Given the description of an element on the screen output the (x, y) to click on. 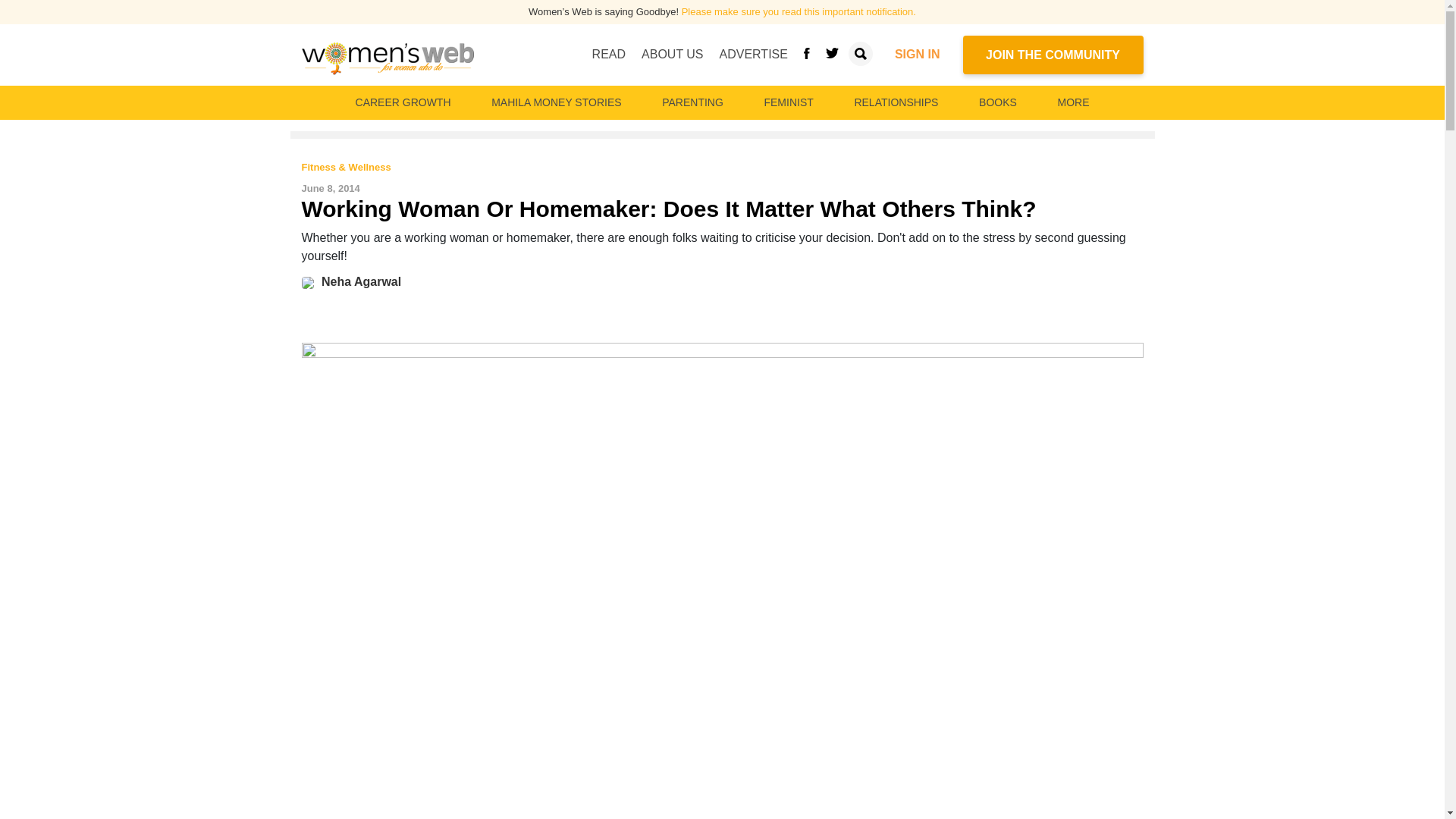
FEMINIST (788, 102)
CAREER GROWTH (402, 102)
PARENTING (691, 102)
READ (608, 54)
BOOKS (998, 102)
Please make sure you read this important notification. (798, 11)
ABOUT US (672, 54)
MAHILA MONEY STORIES (555, 102)
MORE (1072, 102)
RELATIONSHIPS (894, 102)
Neha Agarwal (311, 281)
Neha Agarwal (361, 281)
ADVERTISE (753, 54)
